Given the description of an element on the screen output the (x, y) to click on. 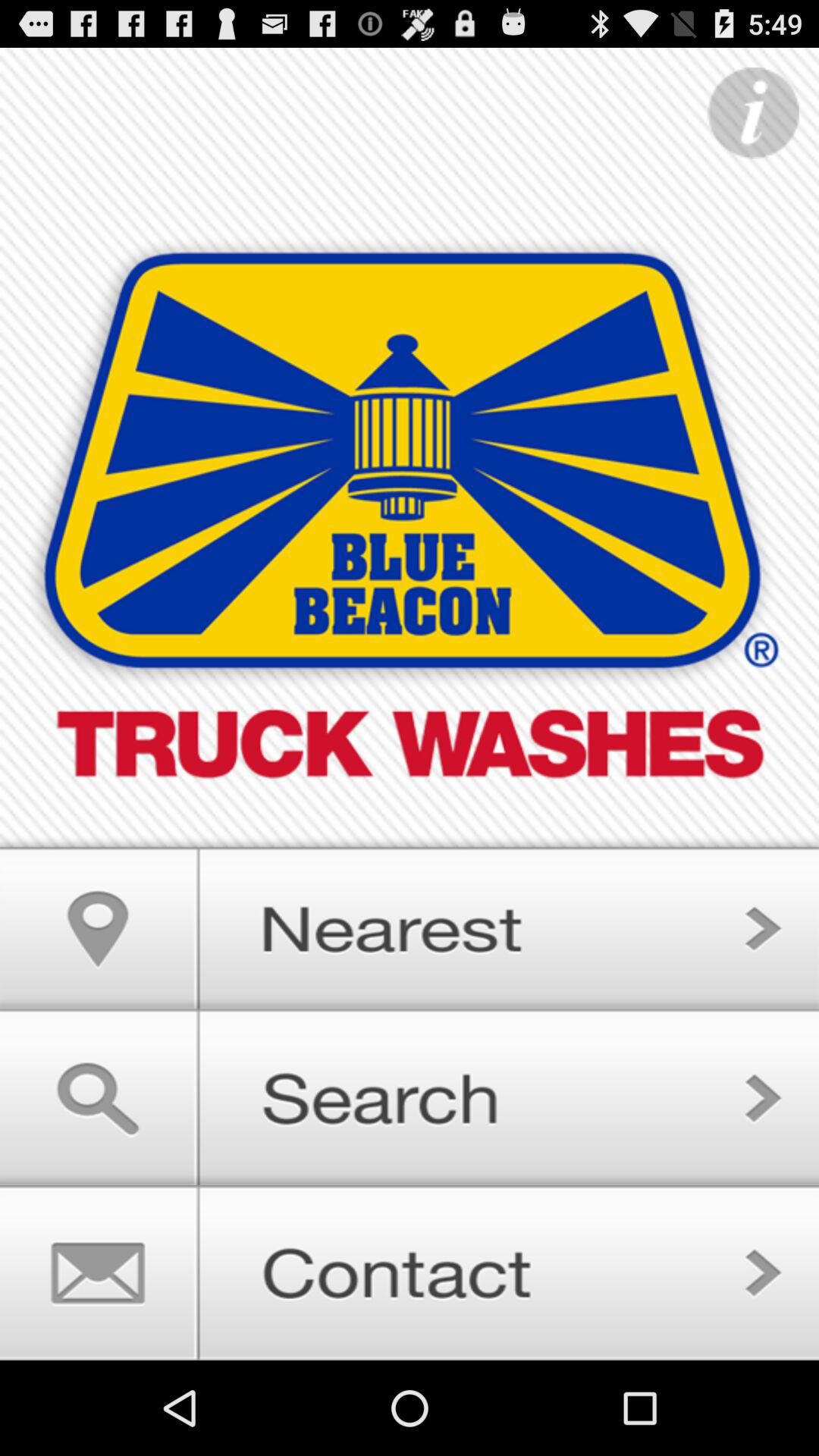
to access contact information (409, 1272)
